Given the description of an element on the screen output the (x, y) to click on. 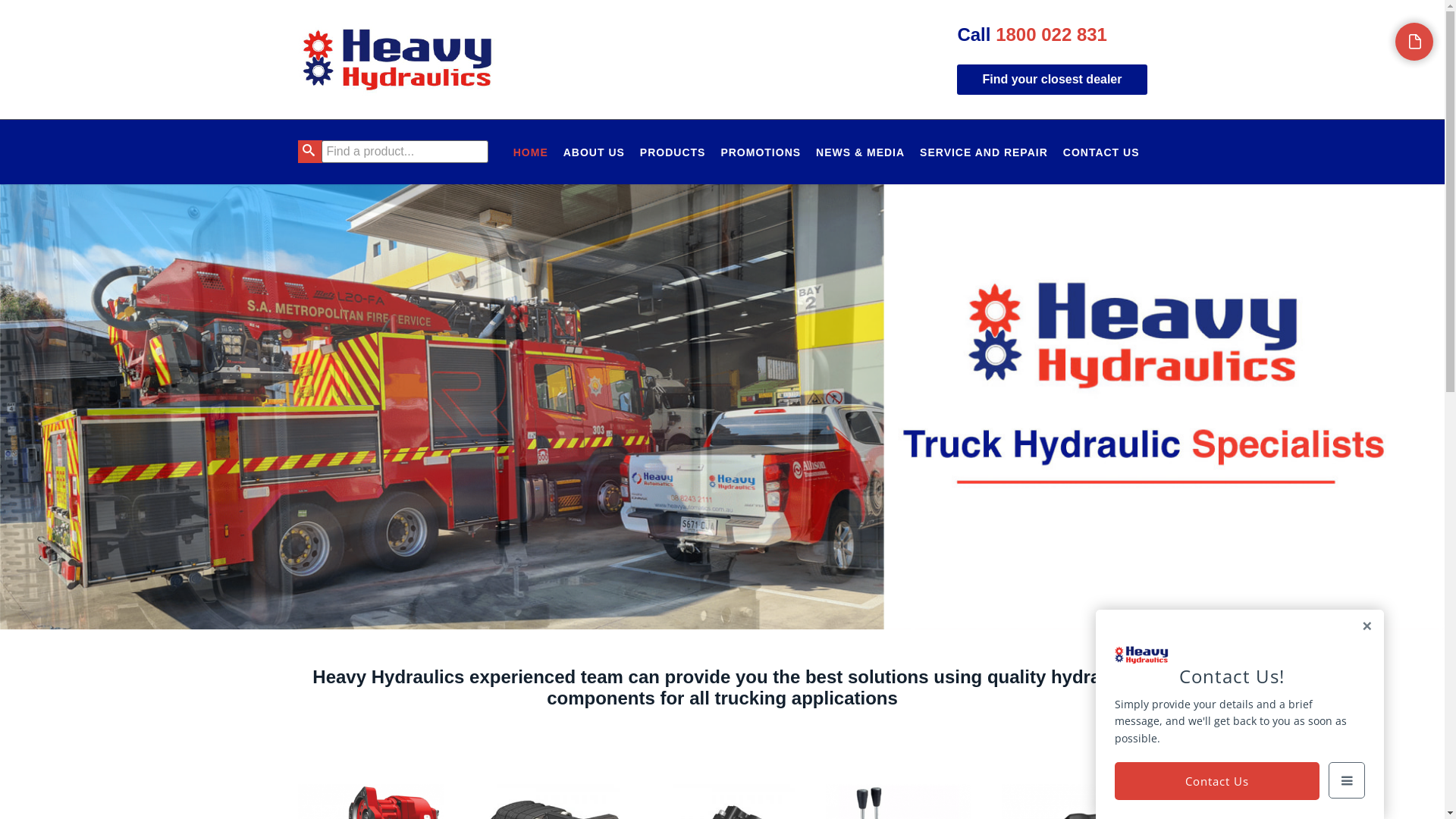
1800 022 831 Element type: text (1051, 34)
Contact Us Element type: text (1216, 781)
PRODUCTS Element type: text (672, 151)
Find your closest dealer Element type: text (1051, 79)
SERVICE AND REPAIR Element type: text (983, 151)
PROMOTIONS Element type: text (760, 151)
CONTACT US Element type: text (1101, 151)
ABOUT US Element type: text (593, 151)
NEWS & MEDIA Element type: text (860, 151)
HOME Element type: text (530, 151)
